Given the description of an element on the screen output the (x, y) to click on. 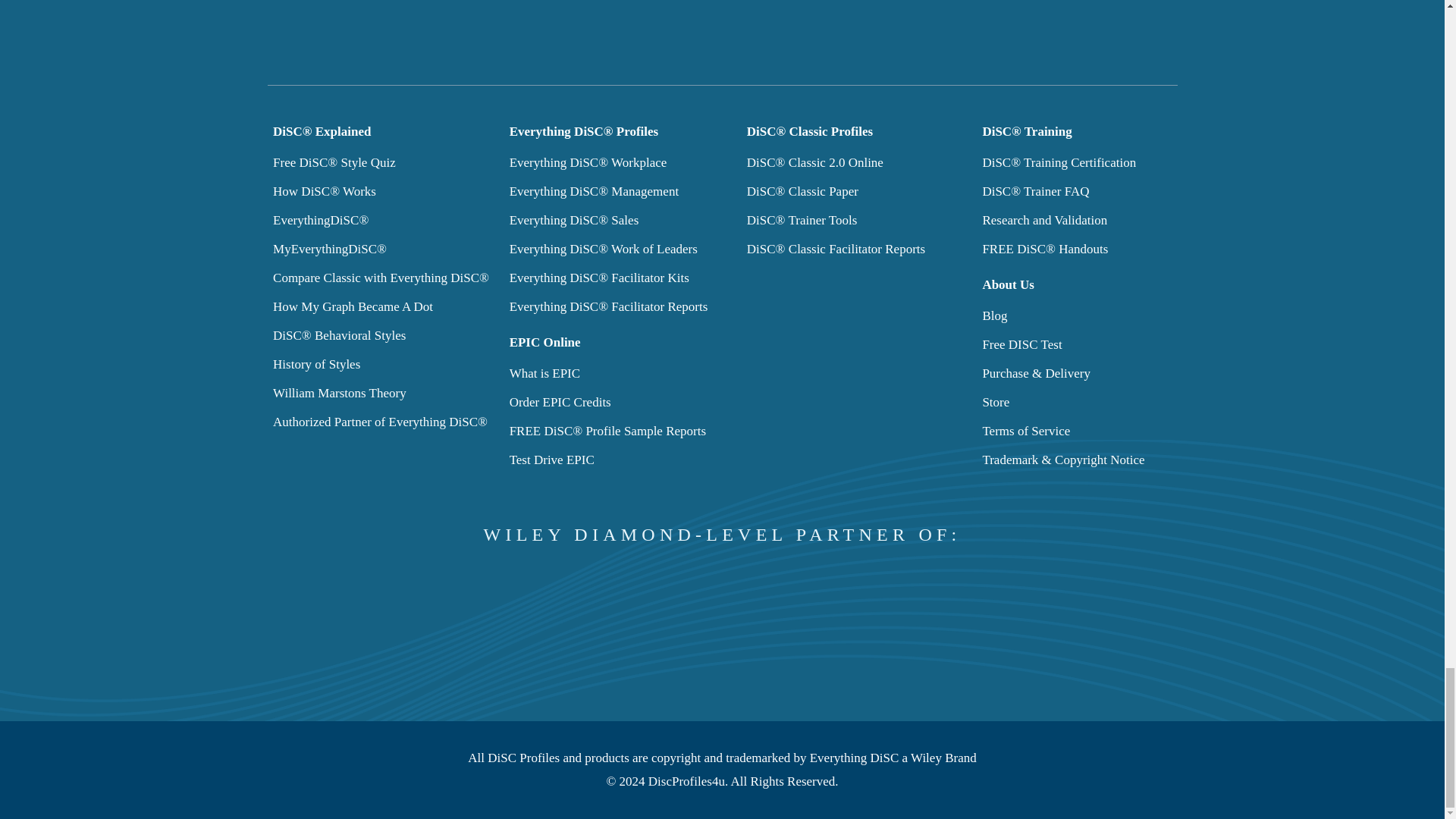
History of Styles (316, 364)
William Marstons Theory (339, 392)
How My Graph Became A Dot (352, 306)
